Given the description of an element on the screen output the (x, y) to click on. 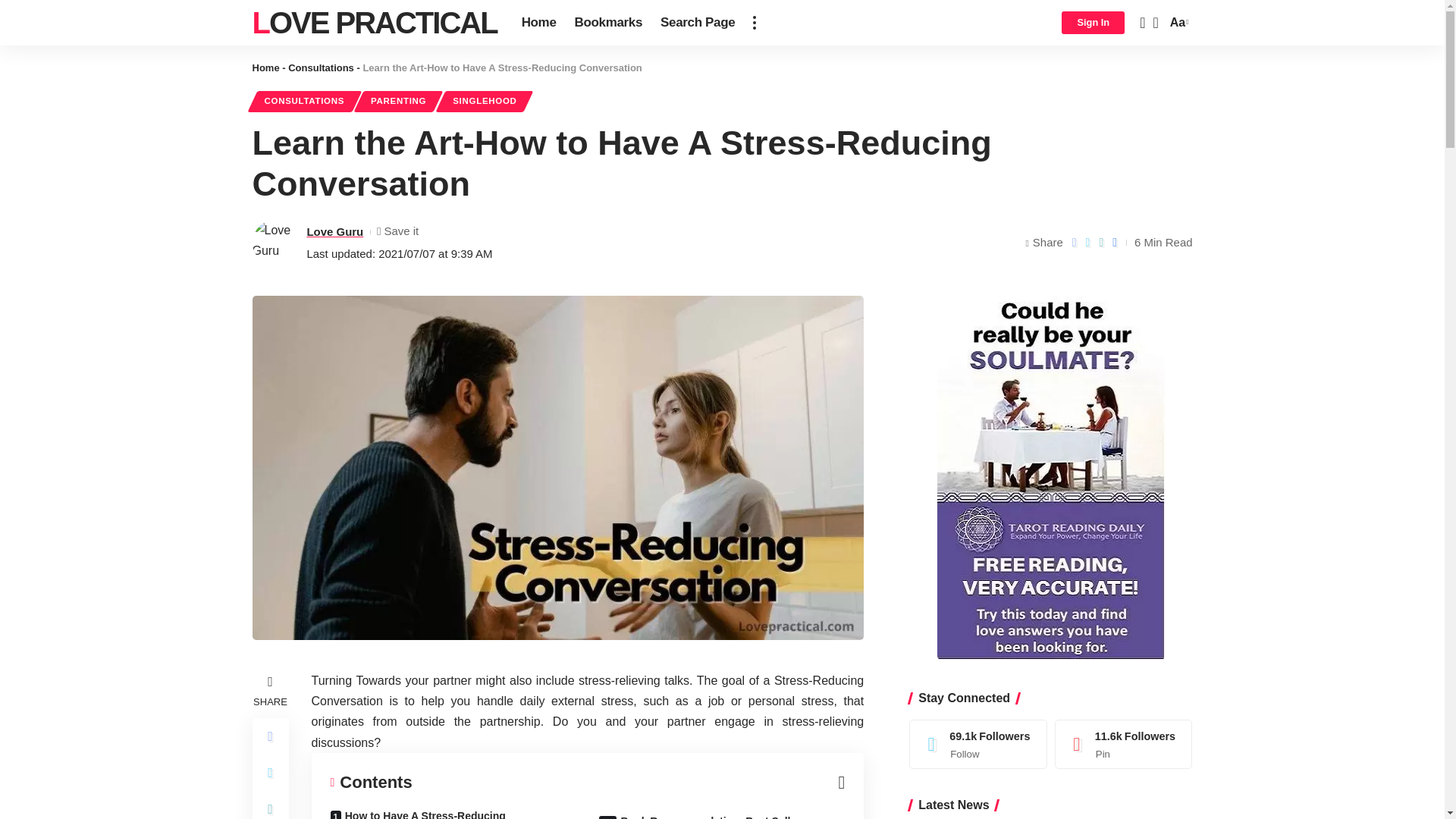
Love Practical (373, 22)
Pinterest (1123, 744)
Home (539, 22)
Search Page (697, 22)
Twitter (978, 744)
LOVE PRACTICAL (373, 22)
Sign In (1092, 22)
Bookmarks (609, 22)
